Given the description of an element on the screen output the (x, y) to click on. 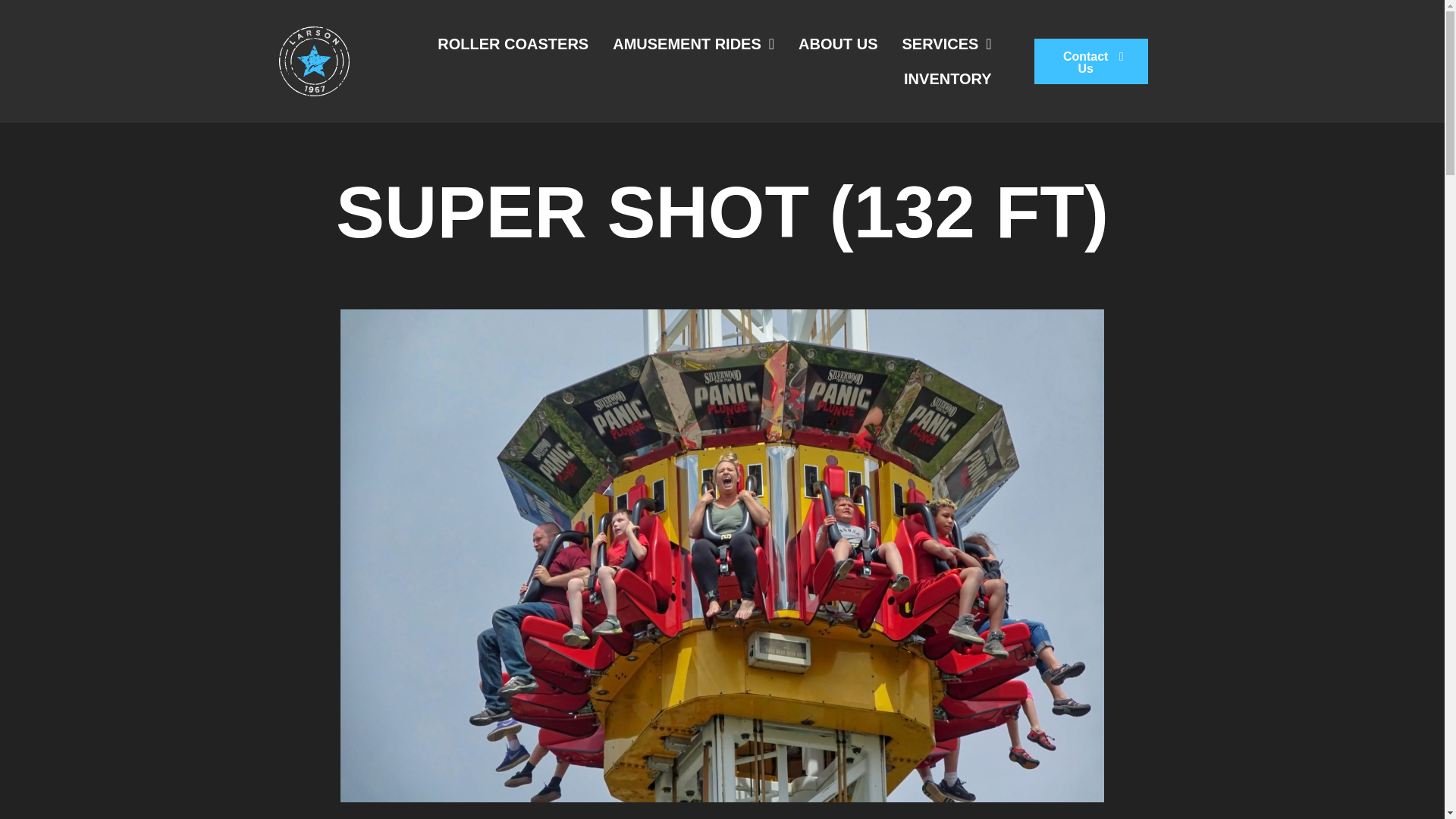
AMUSEMENT RIDES (692, 43)
ABOUT US (837, 43)
ROLLER COASTERS (512, 43)
SERVICES (946, 43)
INVENTORY (947, 78)
